Given the description of an element on the screen output the (x, y) to click on. 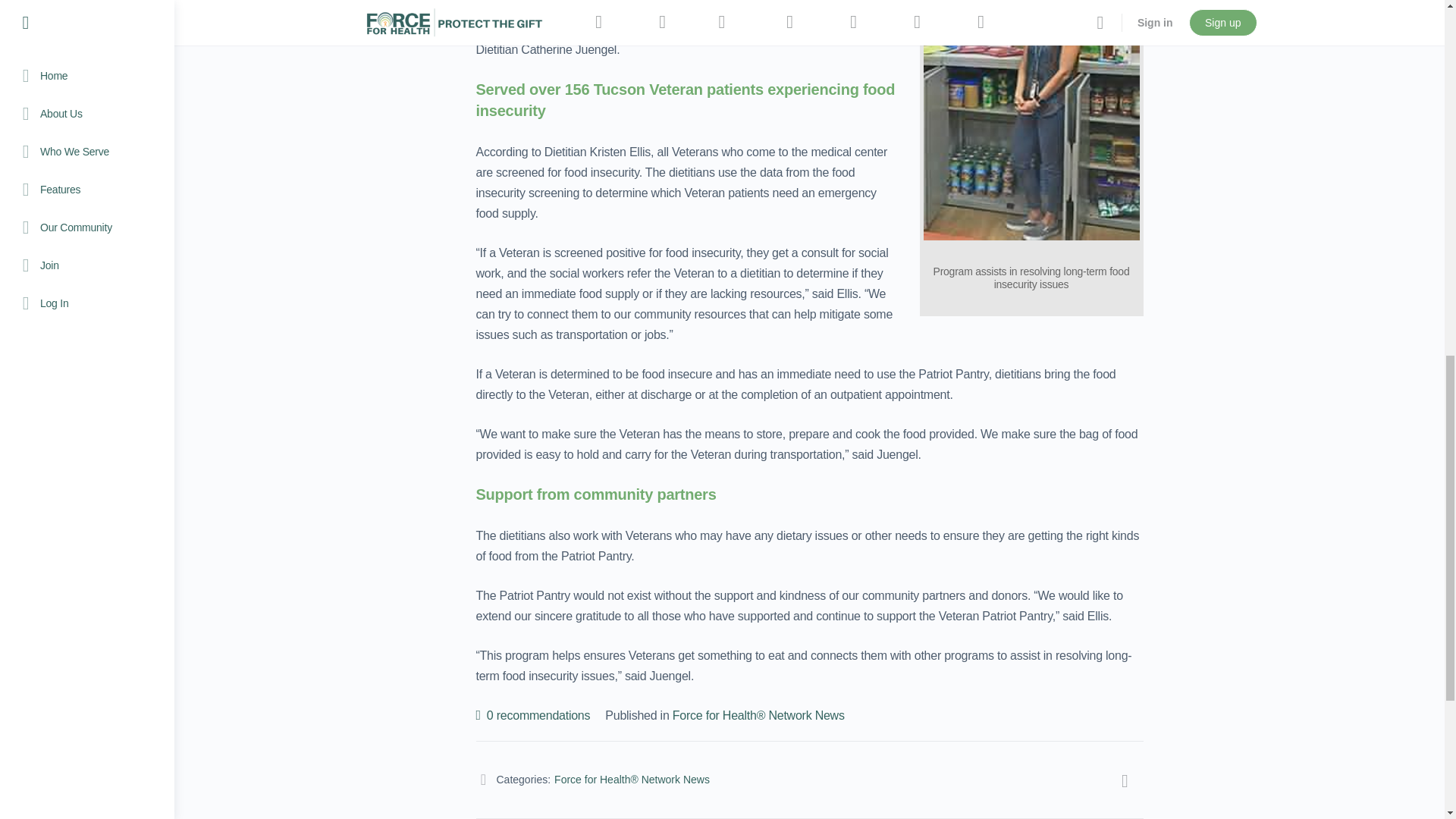
Recommend this article (533, 715)
